Given the description of an element on the screen output the (x, y) to click on. 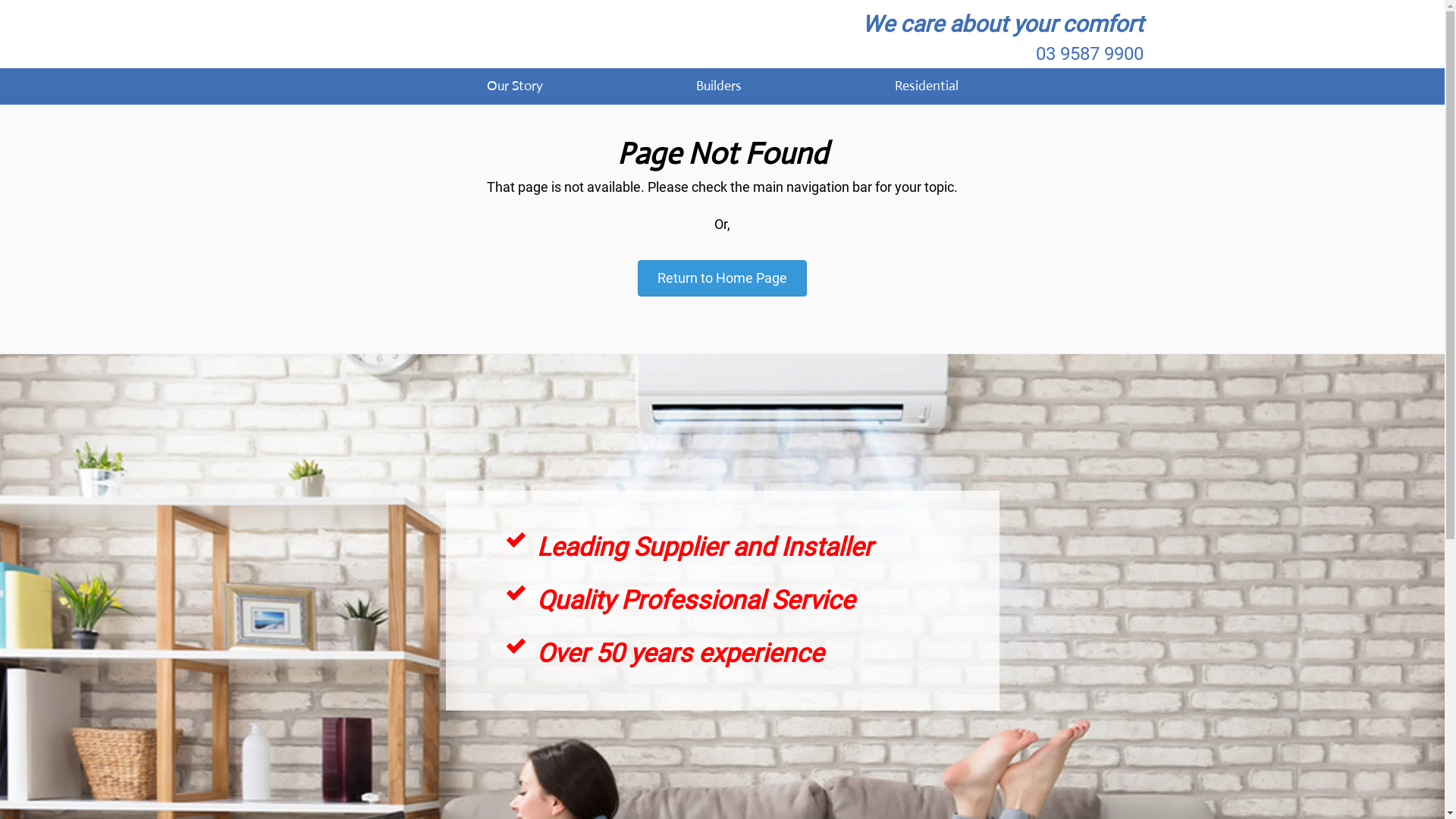
Builders Element type: text (717, 85)
Residential Element type: text (925, 85)
Our Story Element type: text (513, 85)
Return to Home Page Element type: text (721, 278)
03 9587 9900 Element type: text (1089, 53)
